Given the description of an element on the screen output the (x, y) to click on. 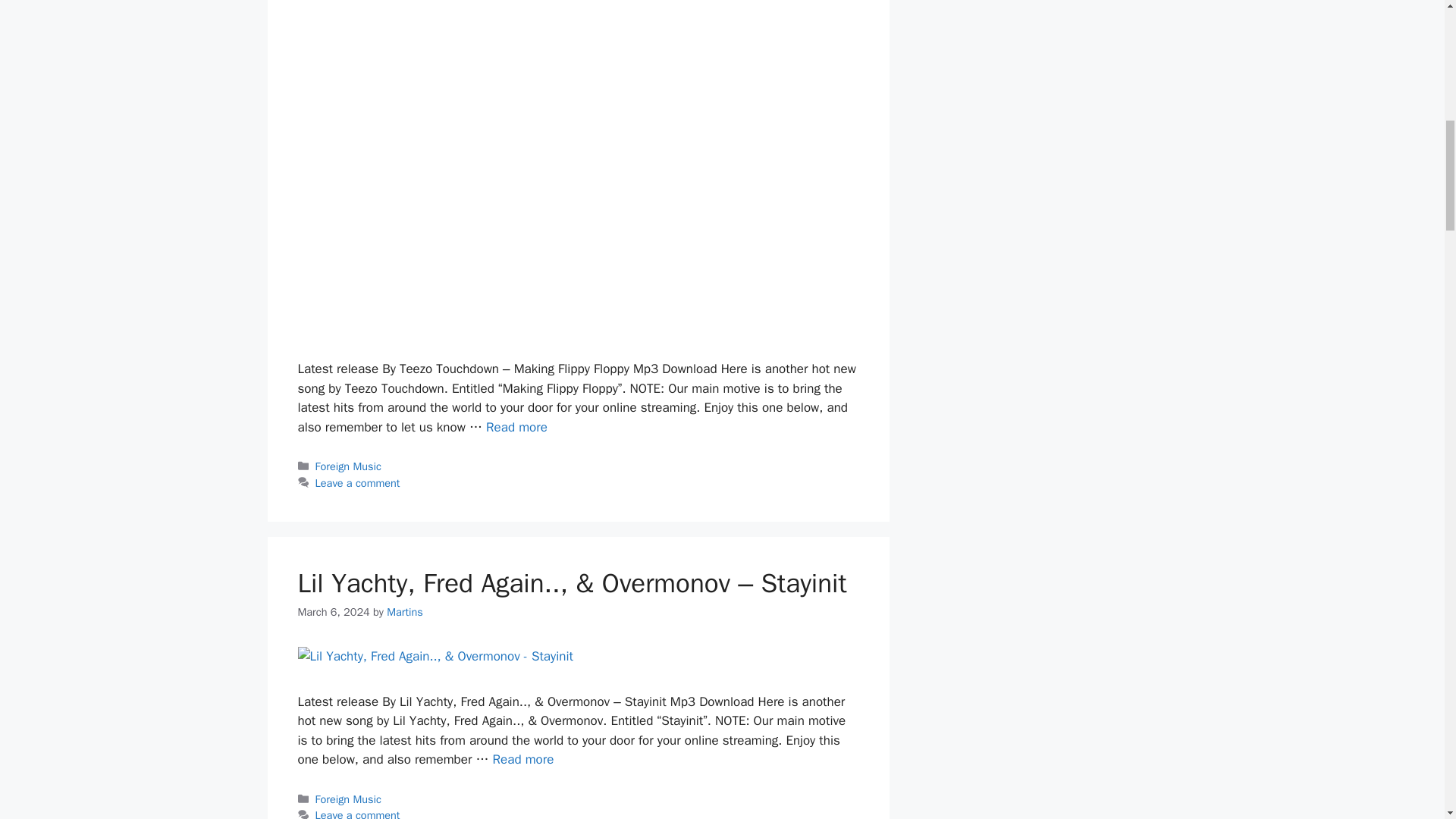
Foreign Music (348, 798)
Martins (405, 612)
Read more (523, 759)
View all posts by Martins (405, 612)
Leave a comment (357, 813)
Leave a comment (357, 482)
Read more (516, 426)
Foreign Music (348, 466)
